Given the description of an element on the screen output the (x, y) to click on. 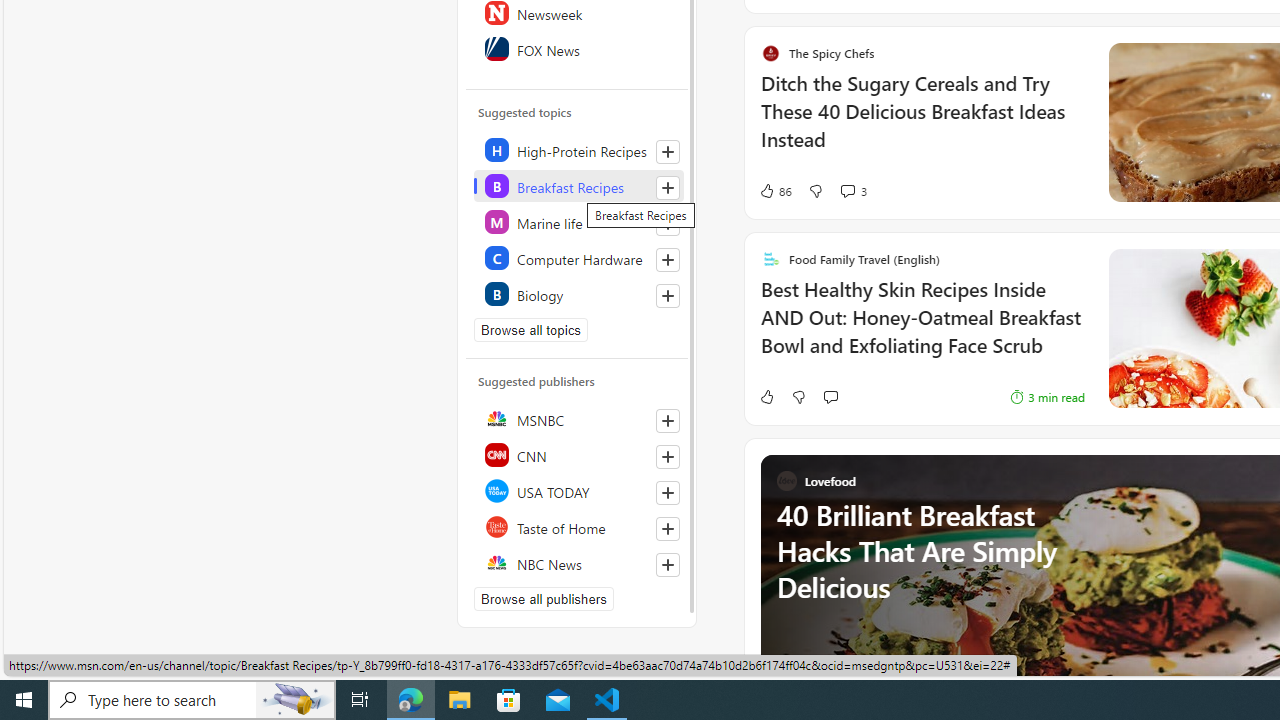
MSNBC (578, 418)
Browse all topics (530, 330)
Follow this source (667, 564)
Like (766, 396)
USA TODAY (578, 490)
Browse all publishers (543, 598)
Follow this topic (667, 295)
FOX News (578, 48)
Follow this topic (667, 295)
Class: highlight selected (578, 185)
86 Like (775, 191)
